Given the description of an element on the screen output the (x, y) to click on. 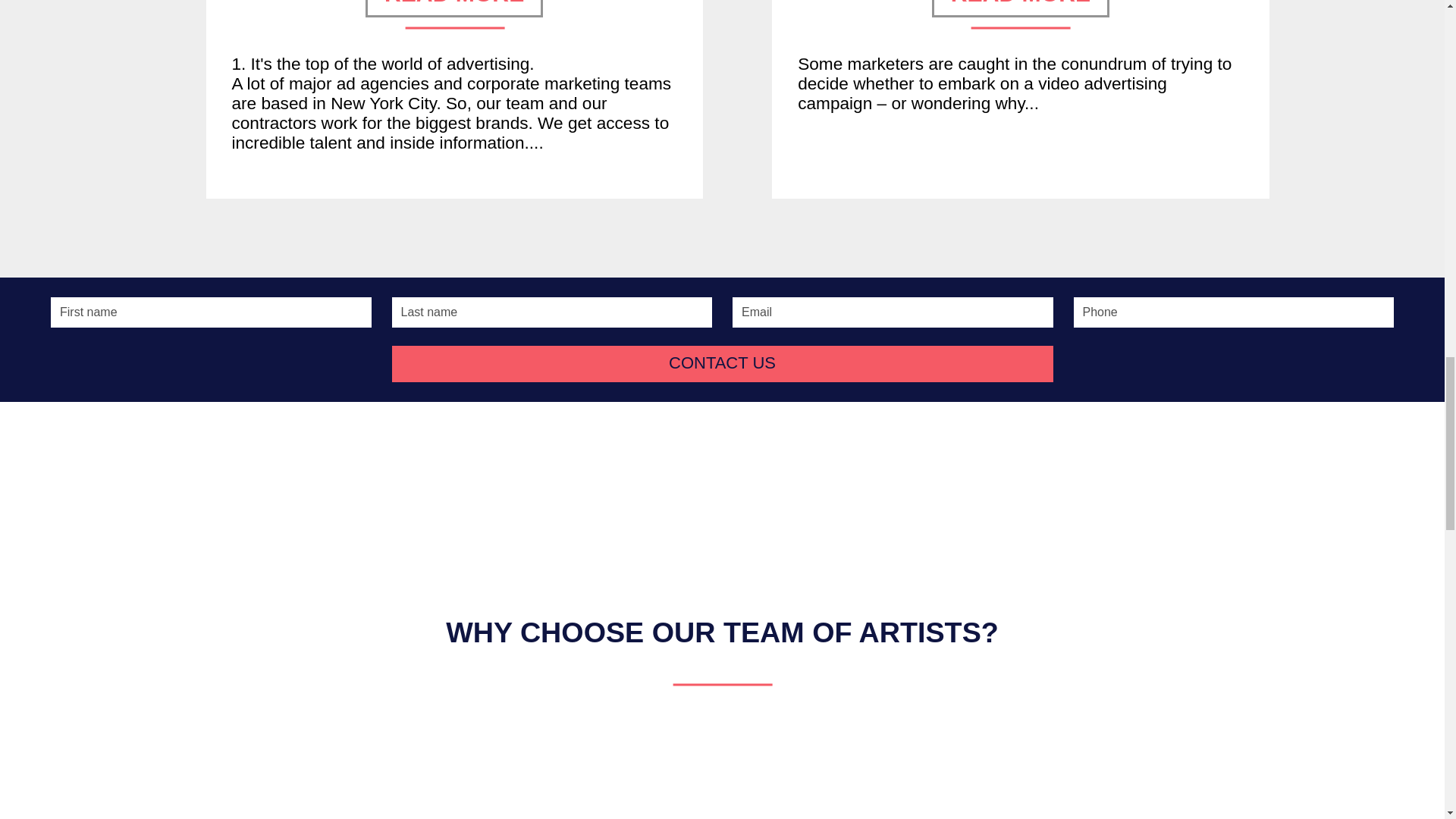
READ MORE (454, 8)
CONTACT US (721, 363)
READ MORE (1020, 8)
